Given the description of an element on the screen output the (x, y) to click on. 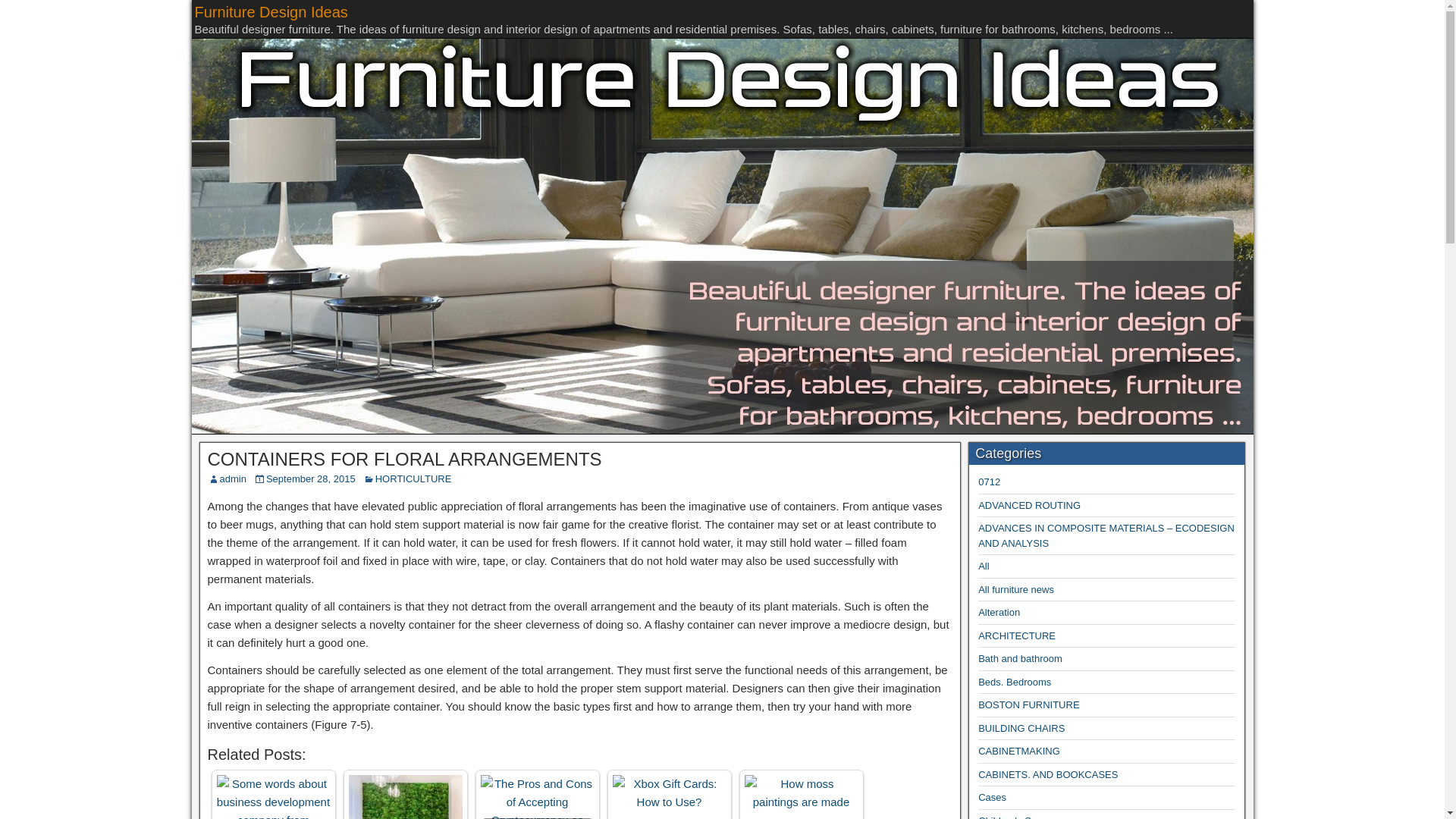
Cases (992, 797)
Moss painting production in Holland (406, 796)
Xbox Gift Cards: How to Use? (669, 796)
CABINETS. AND BOOKCASES (1048, 774)
Beds. Bedrooms (1014, 681)
Children's Spaces (1017, 816)
Xbox Gift Cards: How to Use? (669, 792)
How moss paintings are made (801, 792)
Furniture Design Ideas (270, 12)
